Given the description of an element on the screen output the (x, y) to click on. 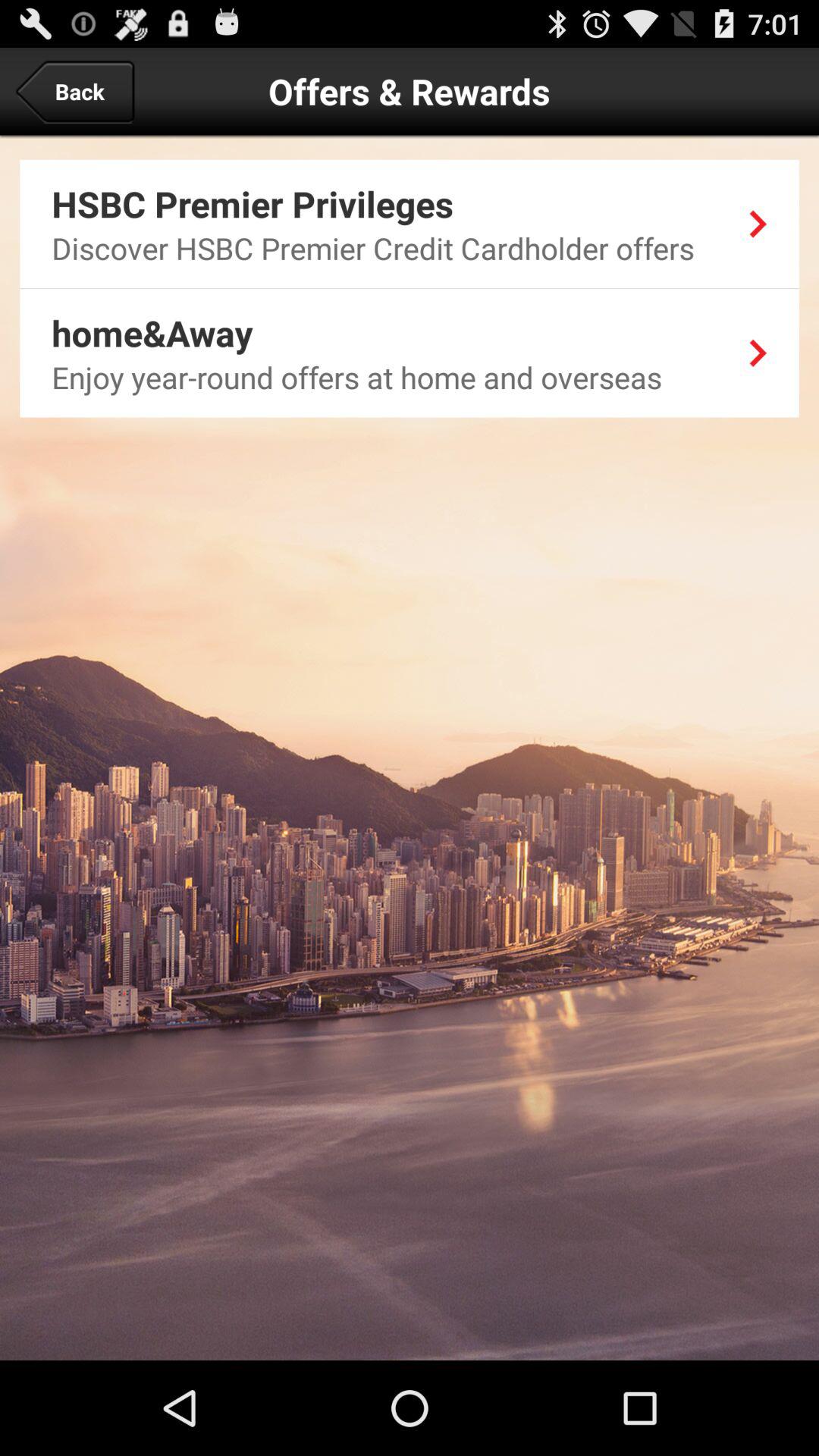
turn off icon to the left of offers & rewards app (73, 91)
